Given the description of an element on the screen output the (x, y) to click on. 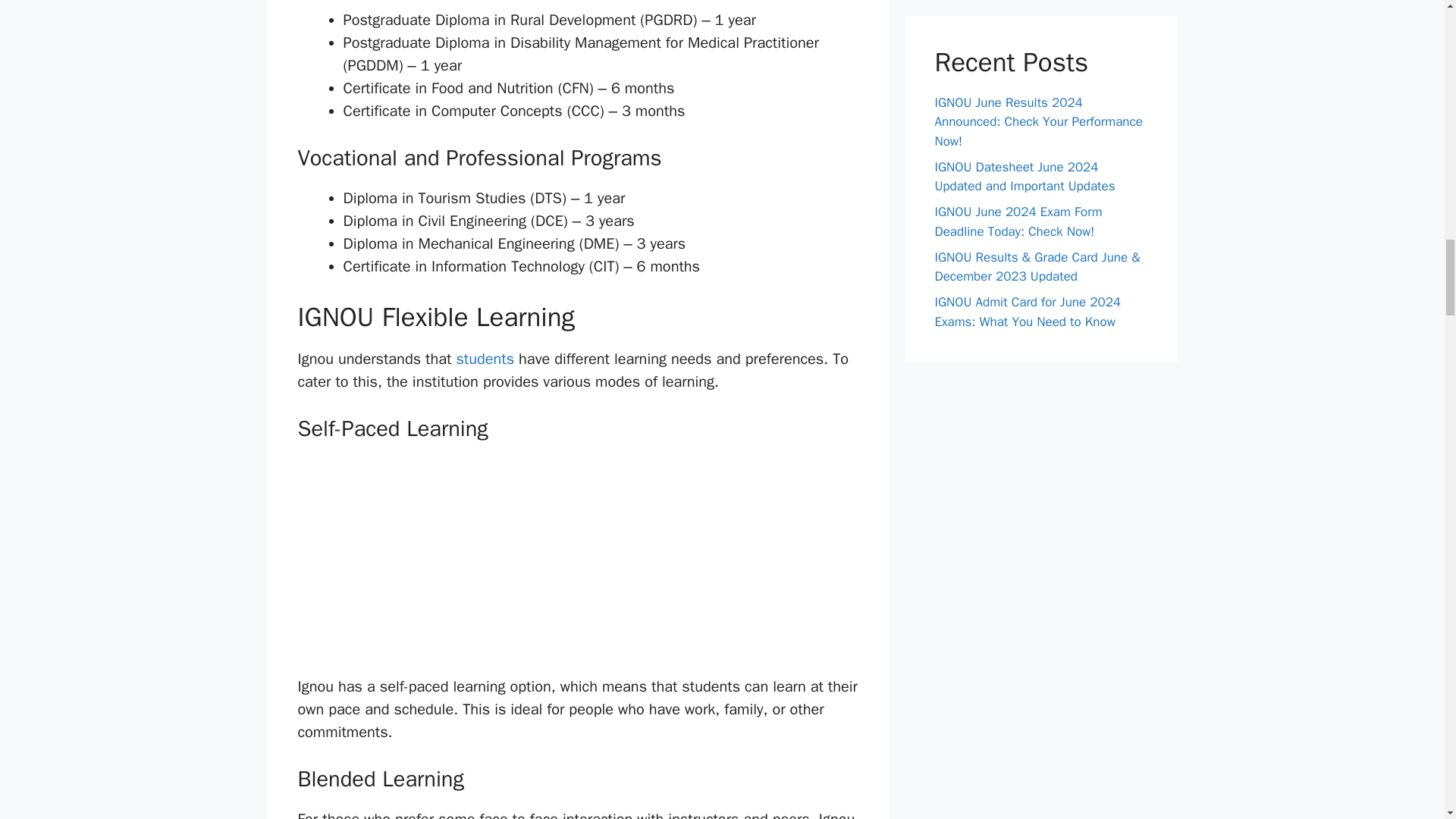
students  (486, 358)
students (486, 358)
